Given the description of an element on the screen output the (x, y) to click on. 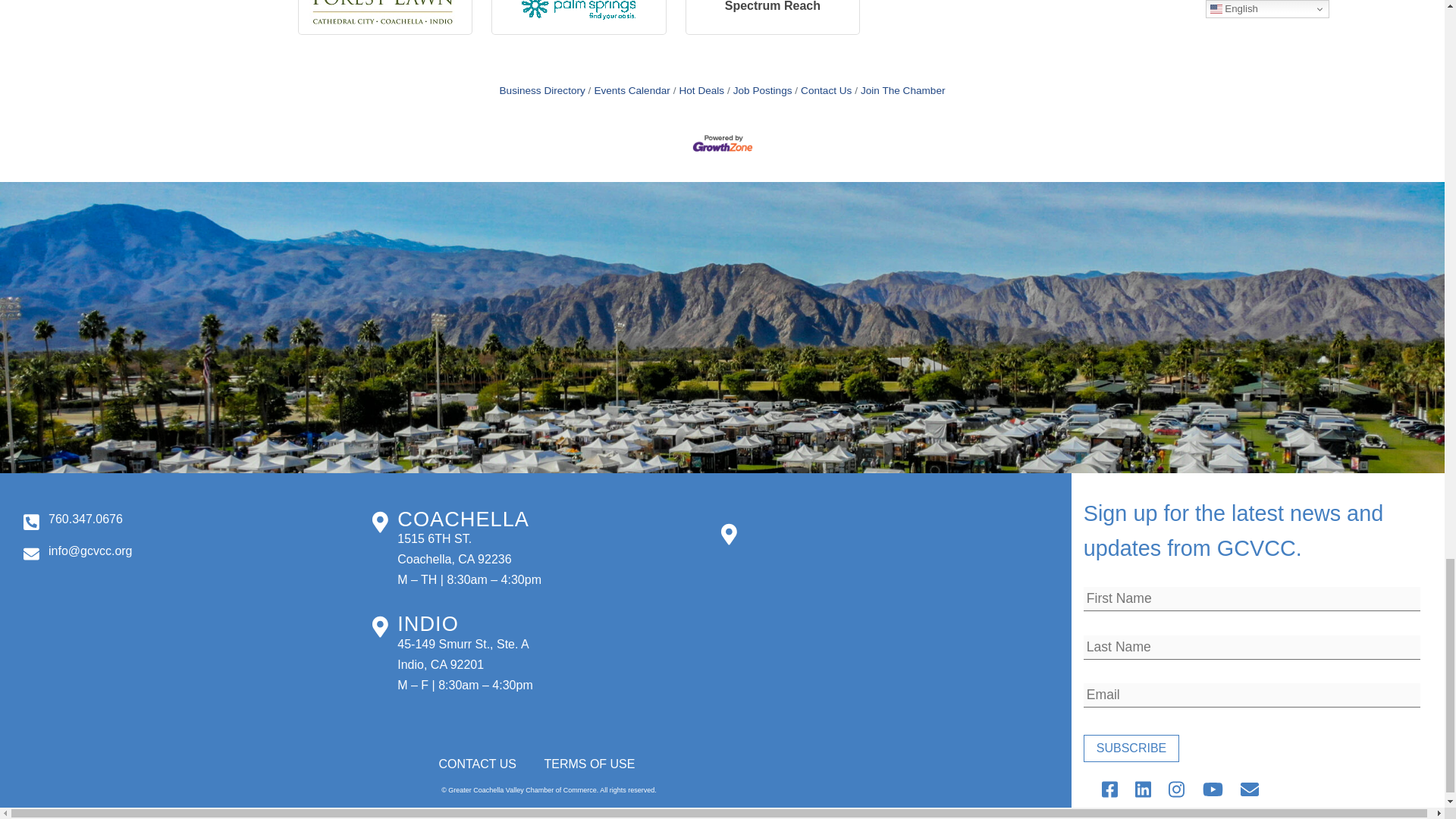
Subscribe (1131, 748)
